Given the description of an element on the screen output the (x, y) to click on. 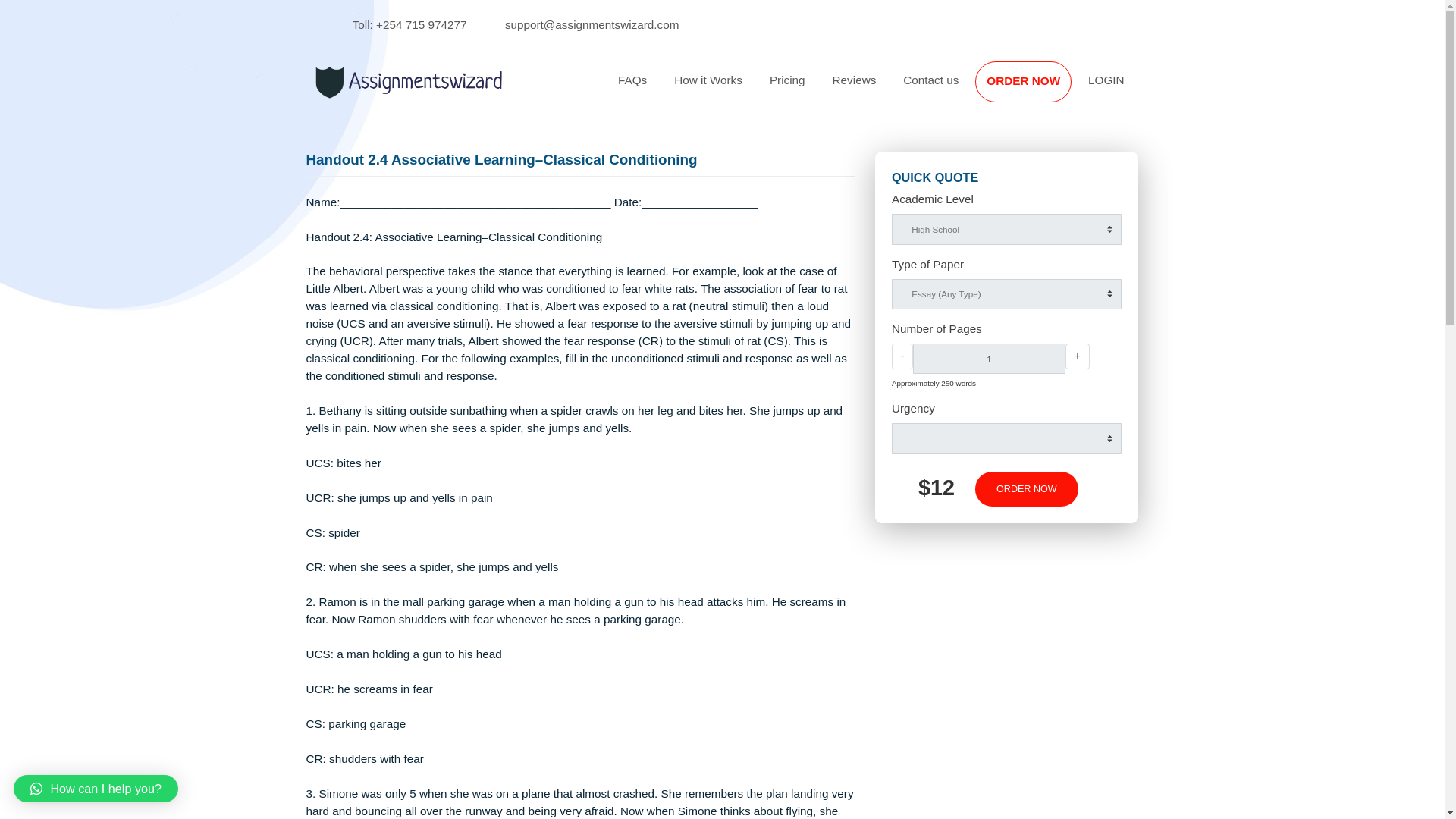
How it Works (786, 89)
How it Works (786, 89)
Reviews (948, 89)
Contact us (1034, 89)
Pricing (875, 89)
FAQs (702, 89)
ORDER NOW (1137, 90)
- (1002, 395)
Reviews (948, 89)
1 (1098, 398)
Contact us (1034, 89)
ORDER NOW (1140, 542)
Pricing (875, 89)
LOGIN (1229, 89)
LOGIN (1229, 89)
